Given the description of an element on the screen output the (x, y) to click on. 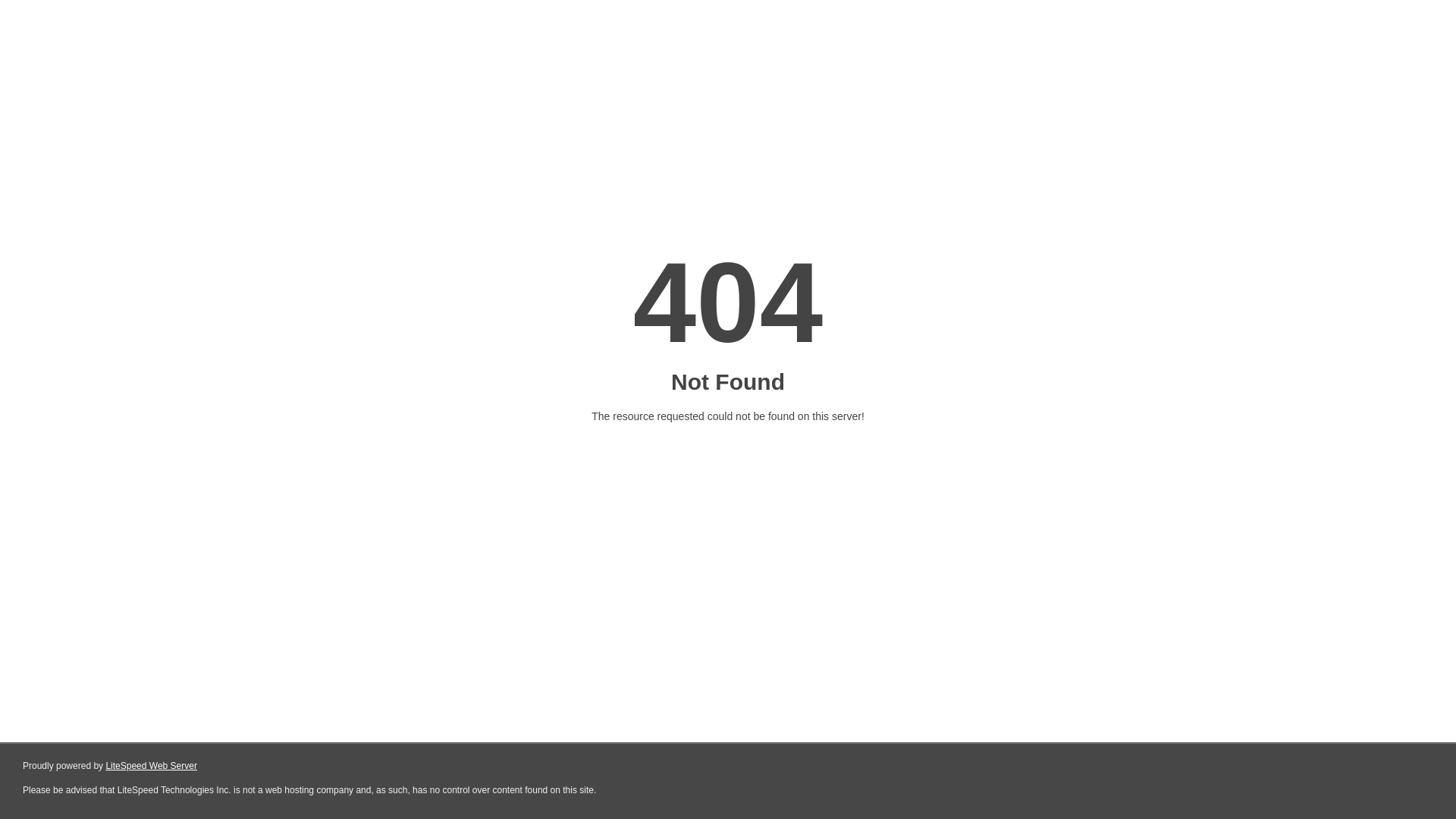
LiteSpeed Web Server Element type: text (151, 765)
